Given the description of an element on the screen output the (x, y) to click on. 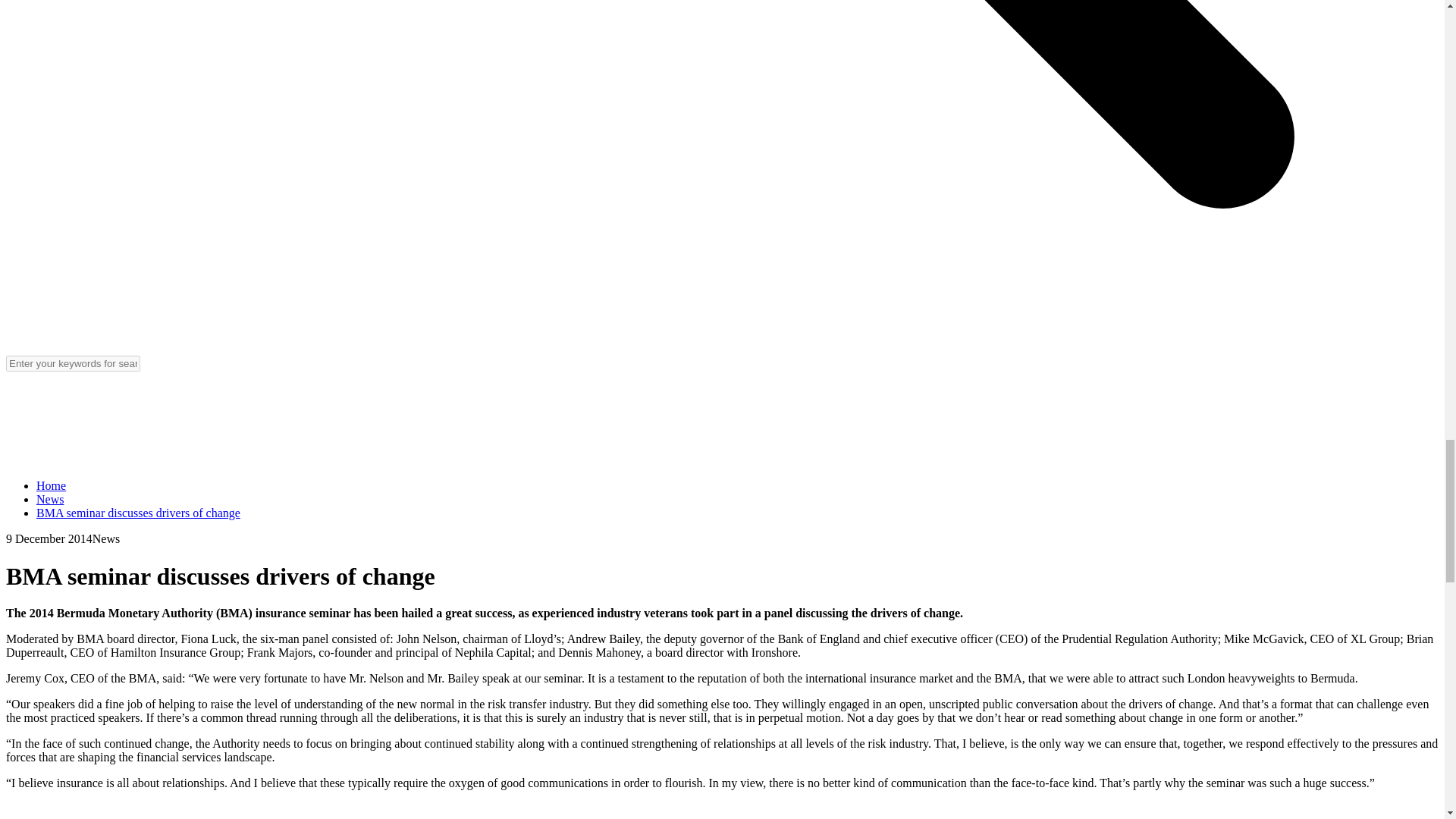
News (50, 499)
BMA seminar discusses drivers of change (138, 512)
Home (50, 485)
